Given the description of an element on the screen output the (x, y) to click on. 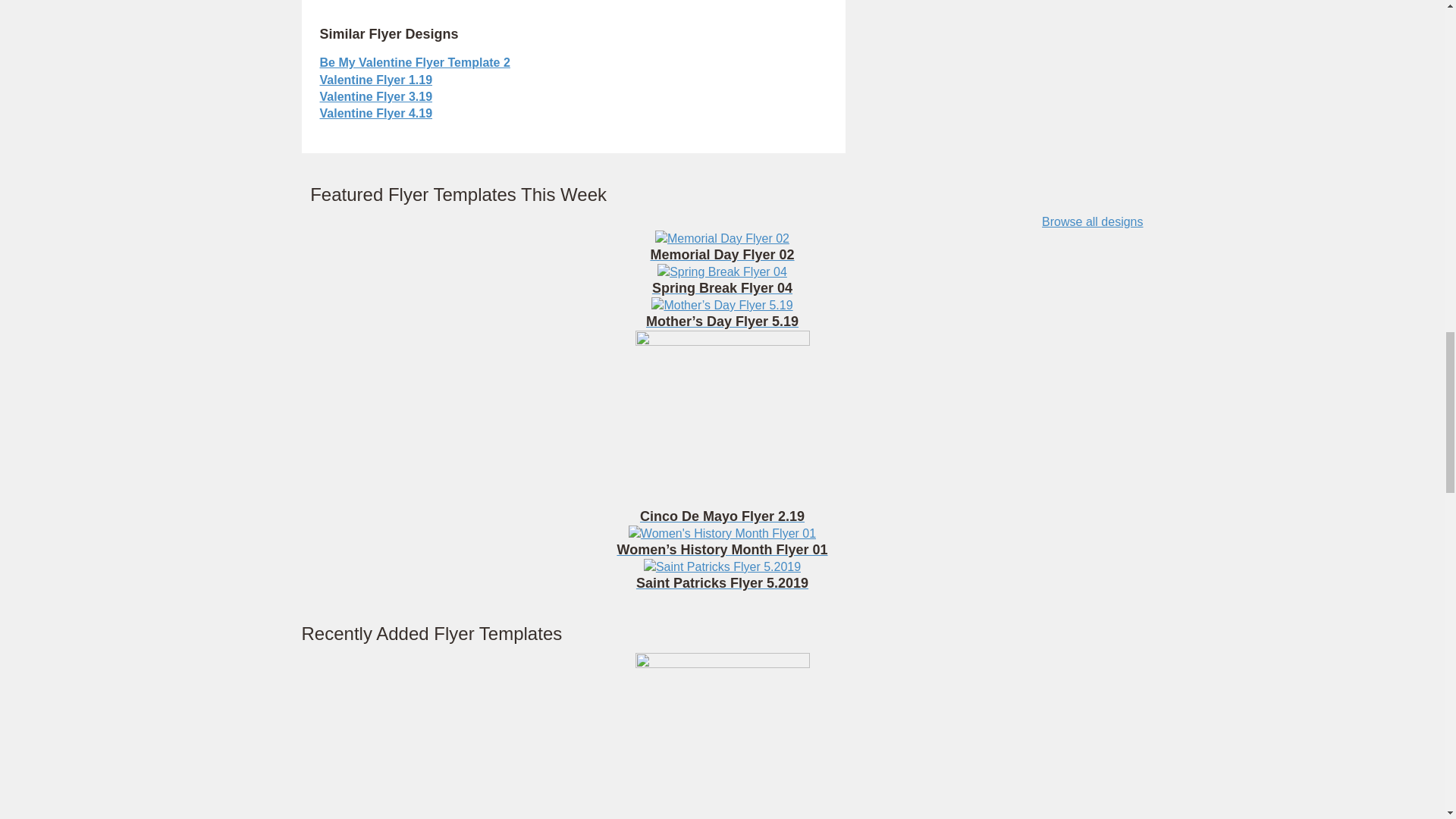
Be My Valentine Flyer Template 2 (415, 62)
Saint Patricks Flyer 5.2019 (721, 576)
Valentine Flyer 1.19 (376, 79)
Memorial Day Flyer 02 (721, 247)
Spring Break Flyer 04 (721, 281)
Valentine Flyer 3.19 (376, 96)
Valentine Flyer 4.19 (376, 113)
